Given the description of an element on the screen output the (x, y) to click on. 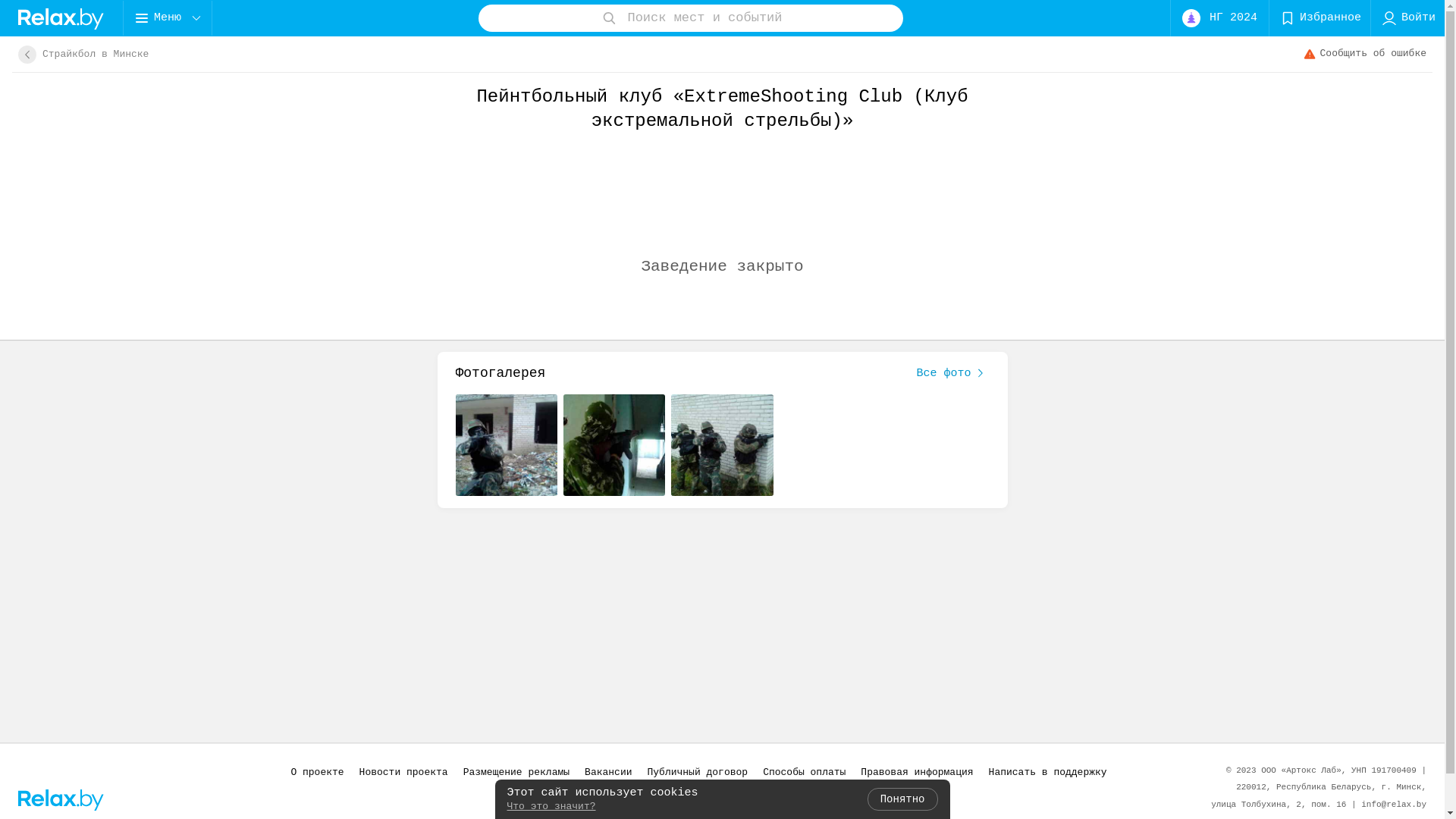
facebook Element type: hover (168, 799)
telegram Element type: hover (147, 799)
instagram Element type: hover (125, 799)
logo Element type: hover (61, 799)
logo Element type: hover (61, 18)
